Given the description of an element on the screen output the (x, y) to click on. 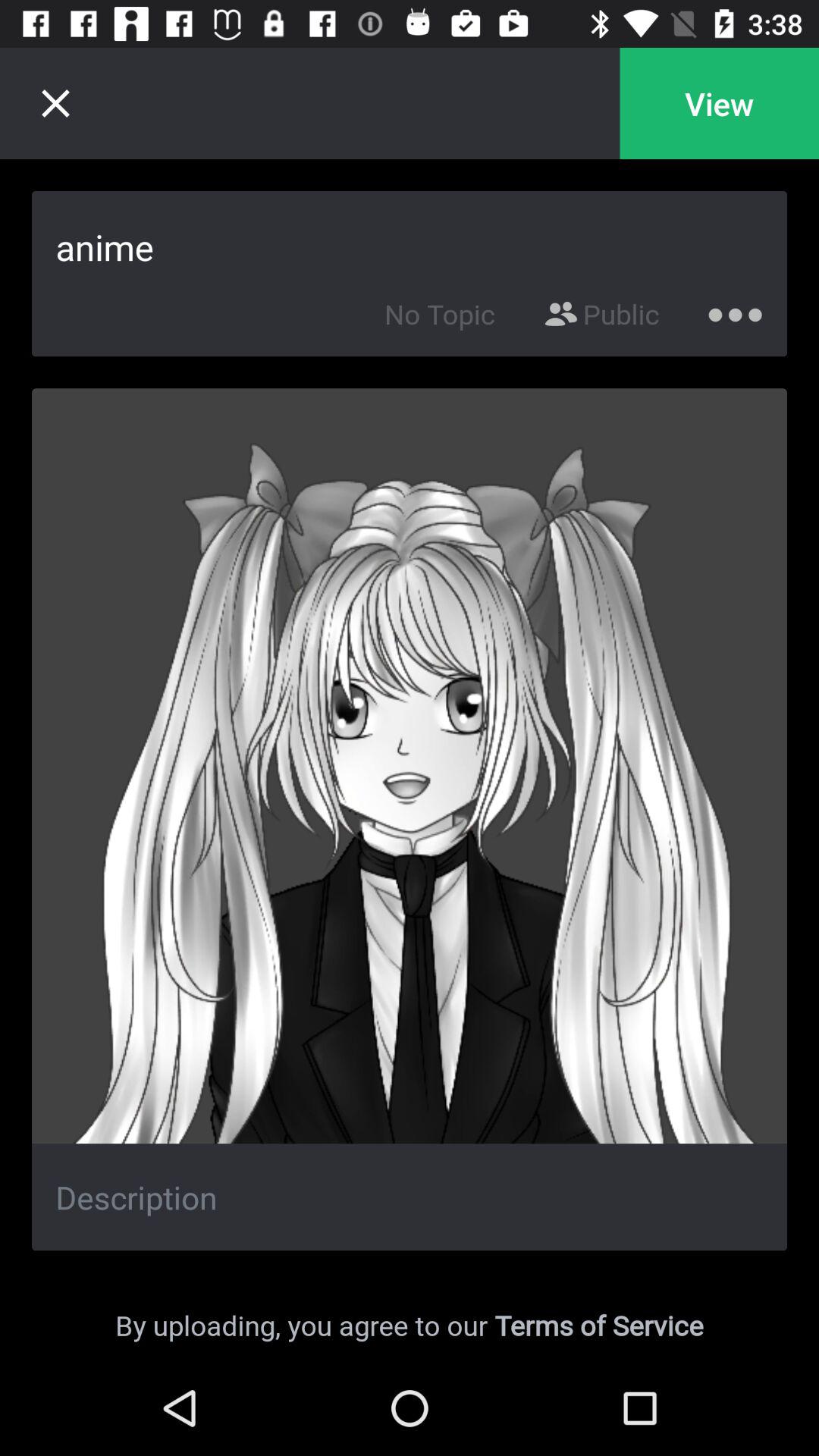
more options (735, 310)
